Given the description of an element on the screen output the (x, y) to click on. 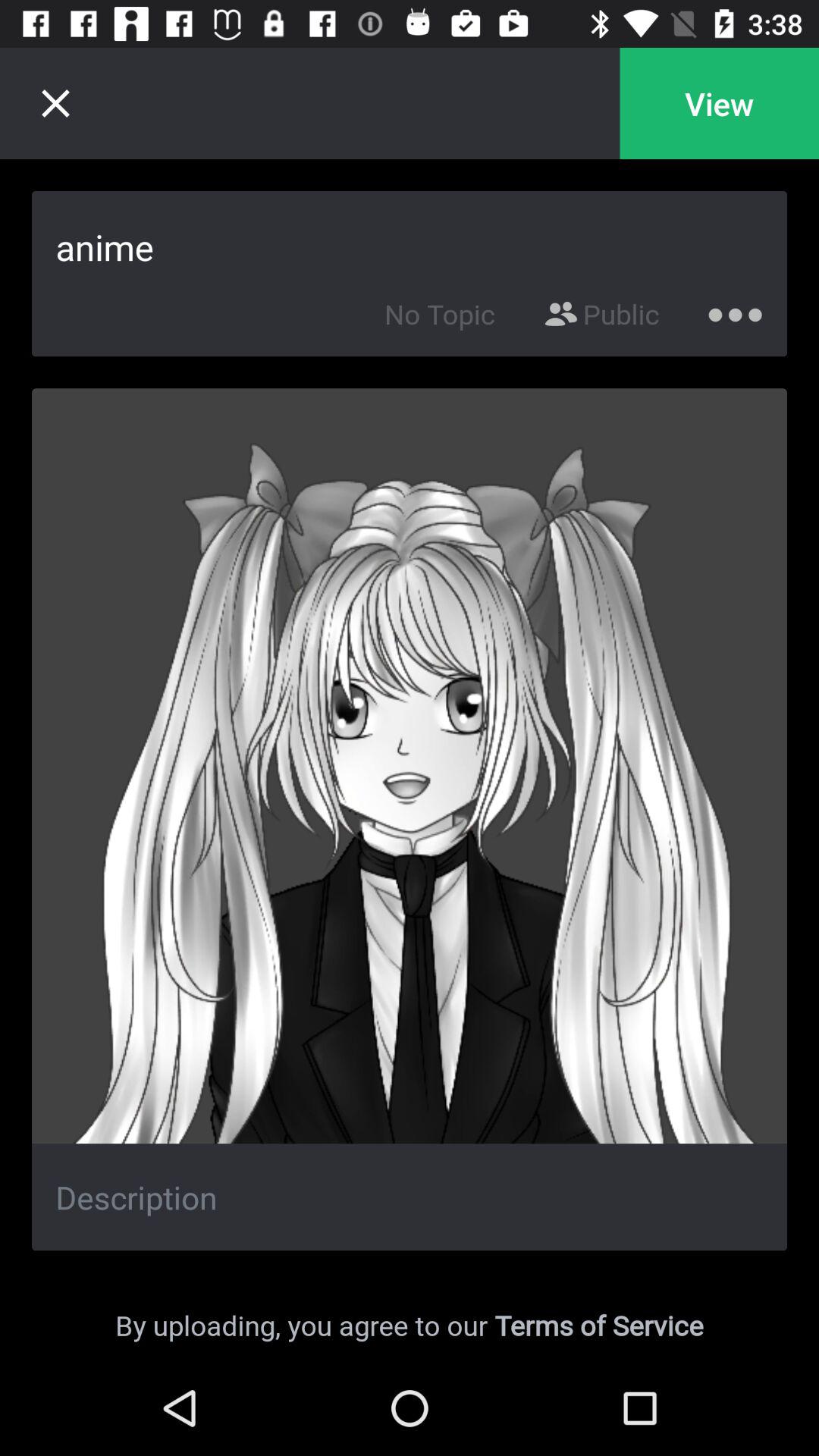
more options (735, 310)
